Given the description of an element on the screen output the (x, y) to click on. 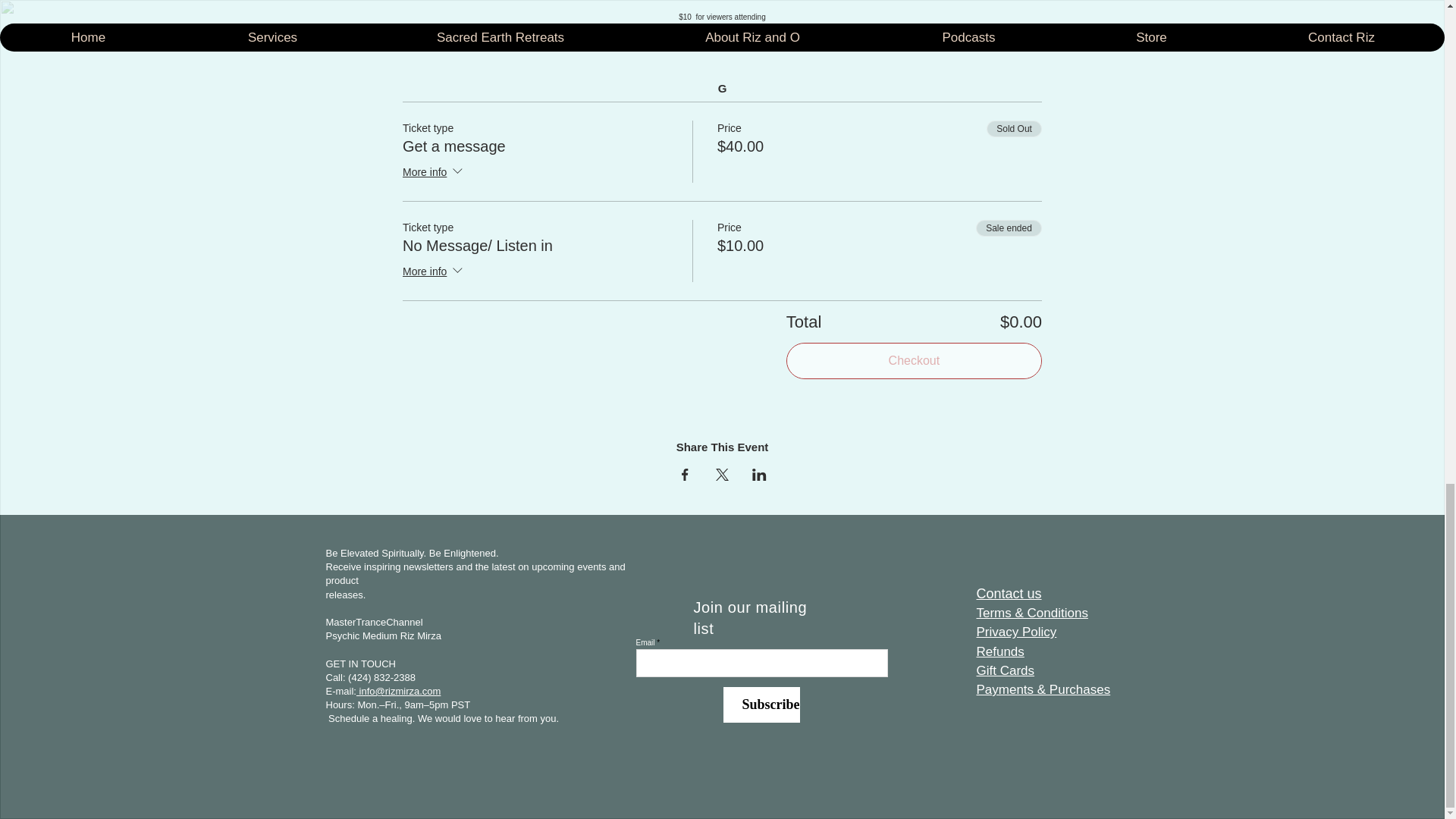
More info (434, 172)
Subscribe (761, 704)
Contact us (1009, 593)
More info (434, 271)
Checkout (914, 361)
Privacy Policy (1016, 631)
